Given the description of an element on the screen output the (x, y) to click on. 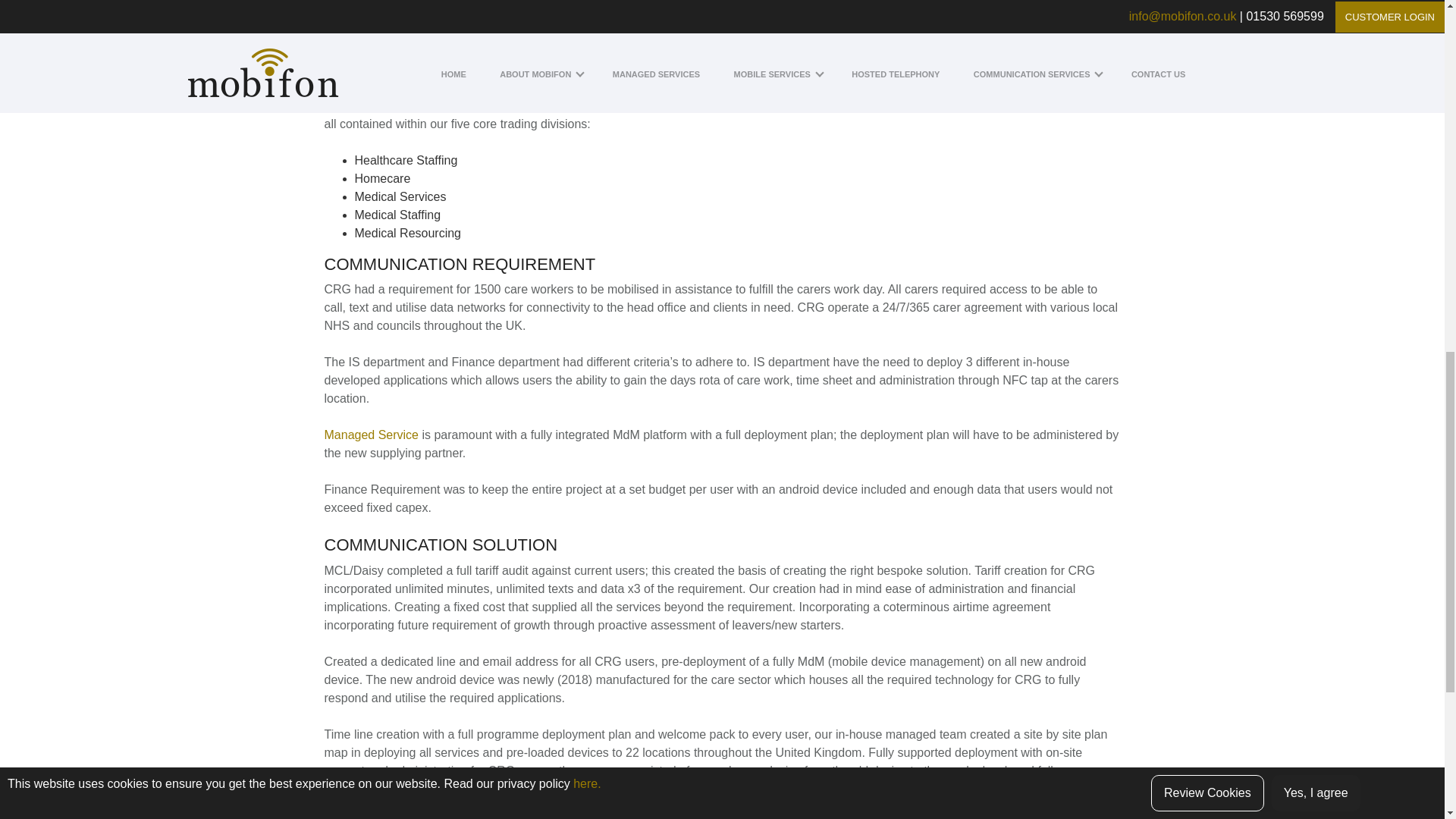
Castlerock Recruitment Group (405, 105)
Managed Service (371, 434)
